Given the description of an element on the screen output the (x, y) to click on. 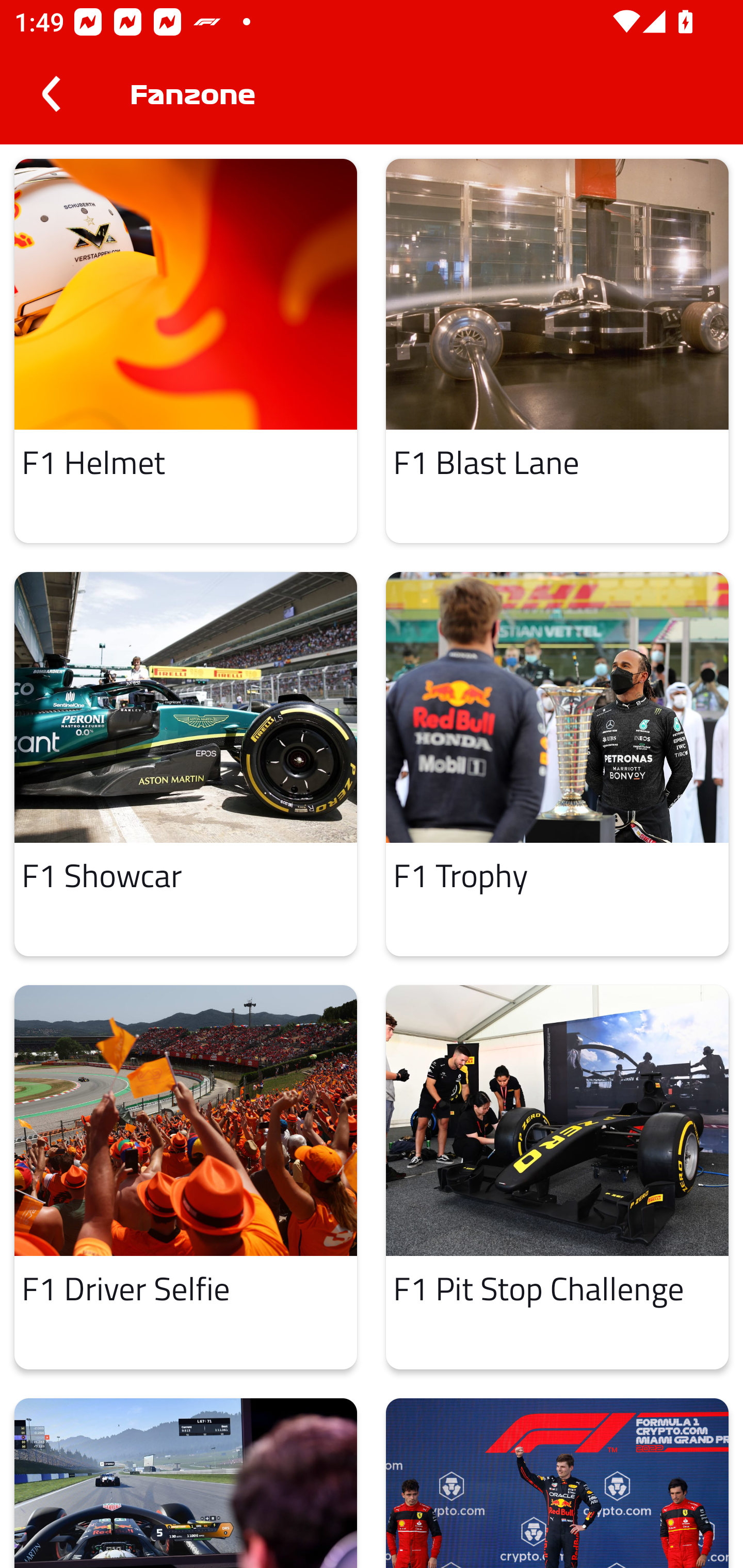
Navigate up (50, 93)
F1 Helmet (185, 350)
F1 Blast Lane (556, 350)
F1 Showcar (185, 764)
F1 Trophy (556, 764)
F1 Driver Selfie (185, 1176)
F1 Pit Stop Challenge (556, 1176)
